Given the description of an element on the screen output the (x, y) to click on. 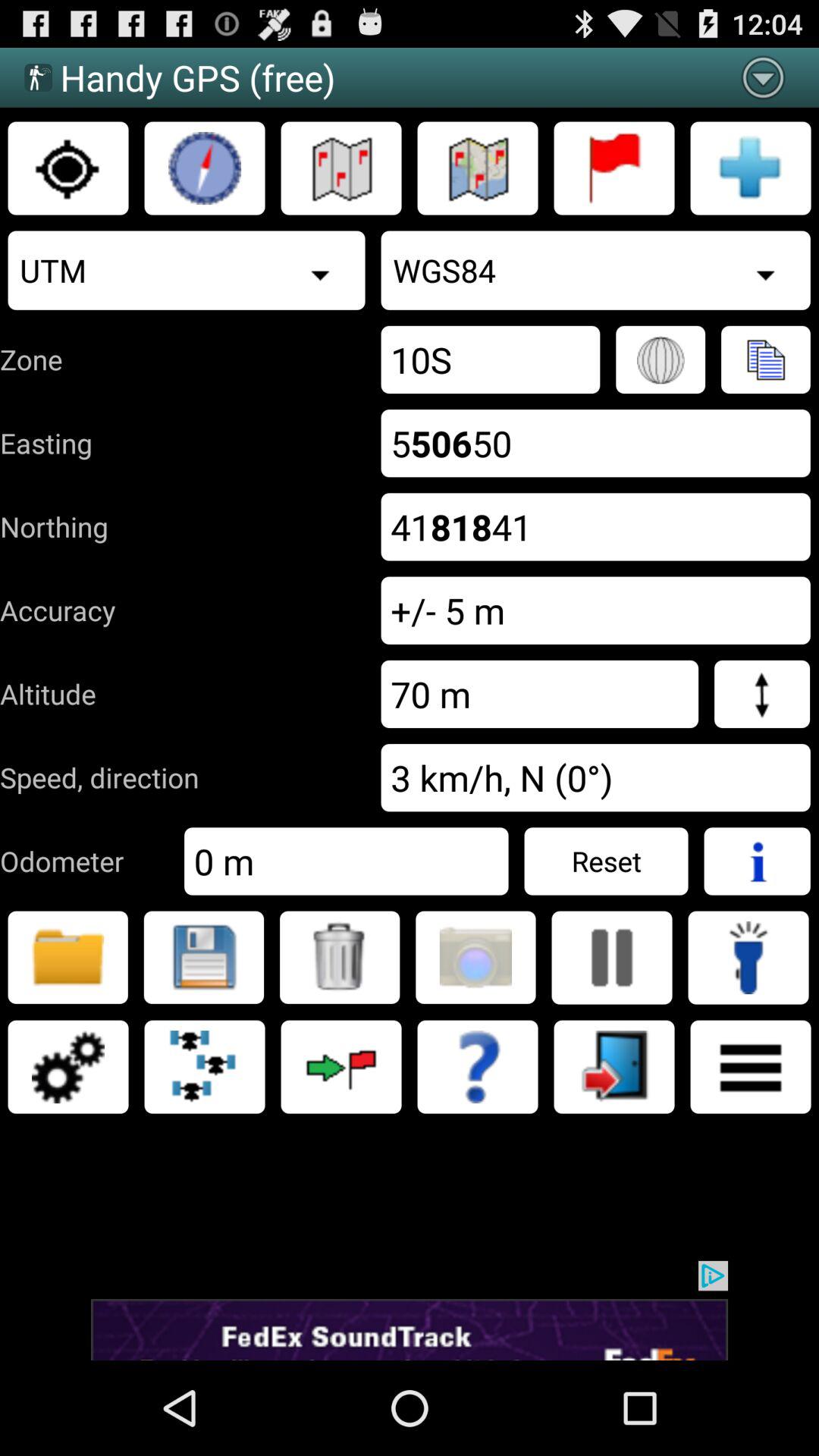
open menu (750, 1066)
